Given the description of an element on the screen output the (x, y) to click on. 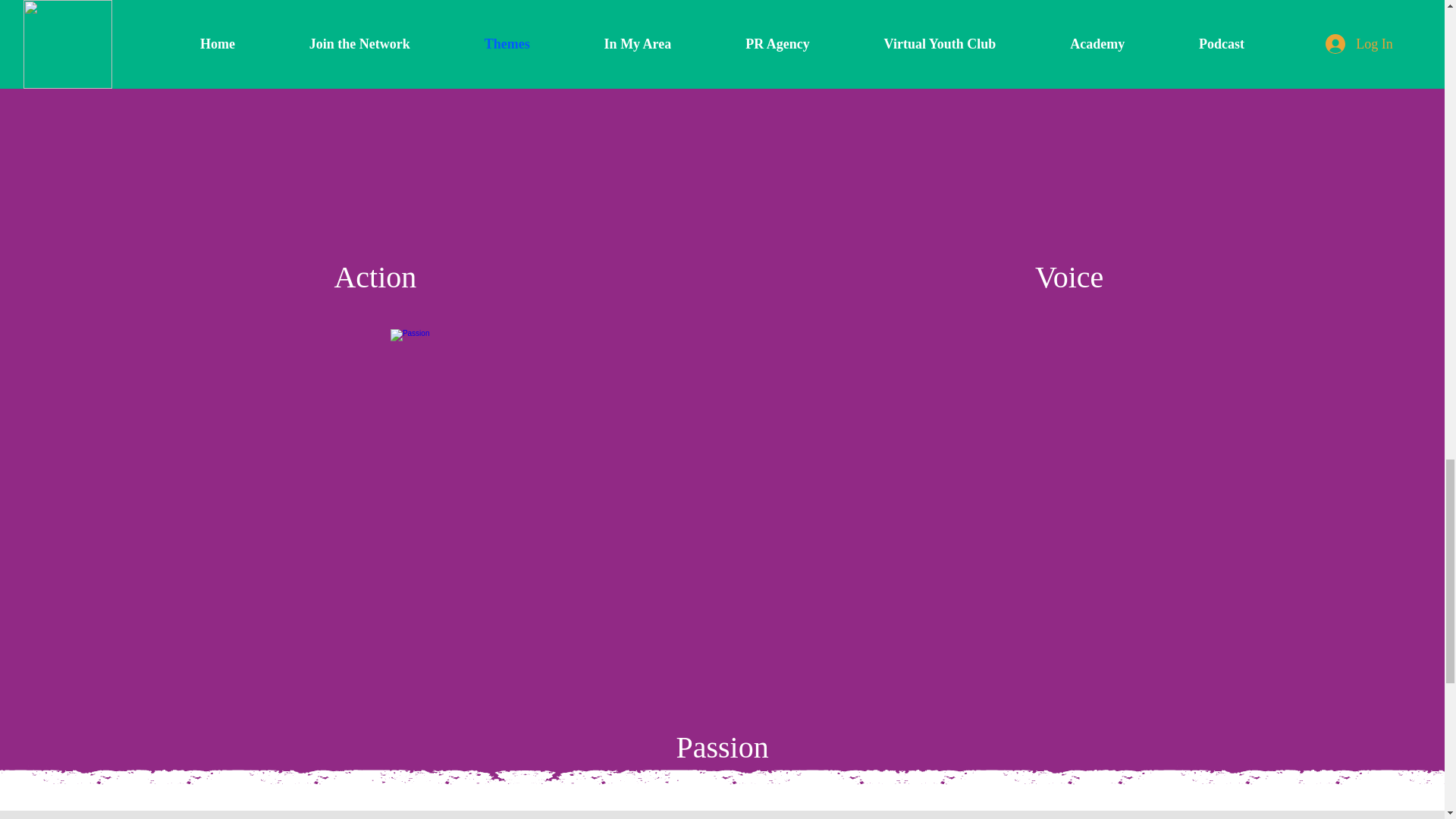
Voice (1069, 277)
Passion (721, 747)
Action (374, 277)
